Given the description of an element on the screen output the (x, y) to click on. 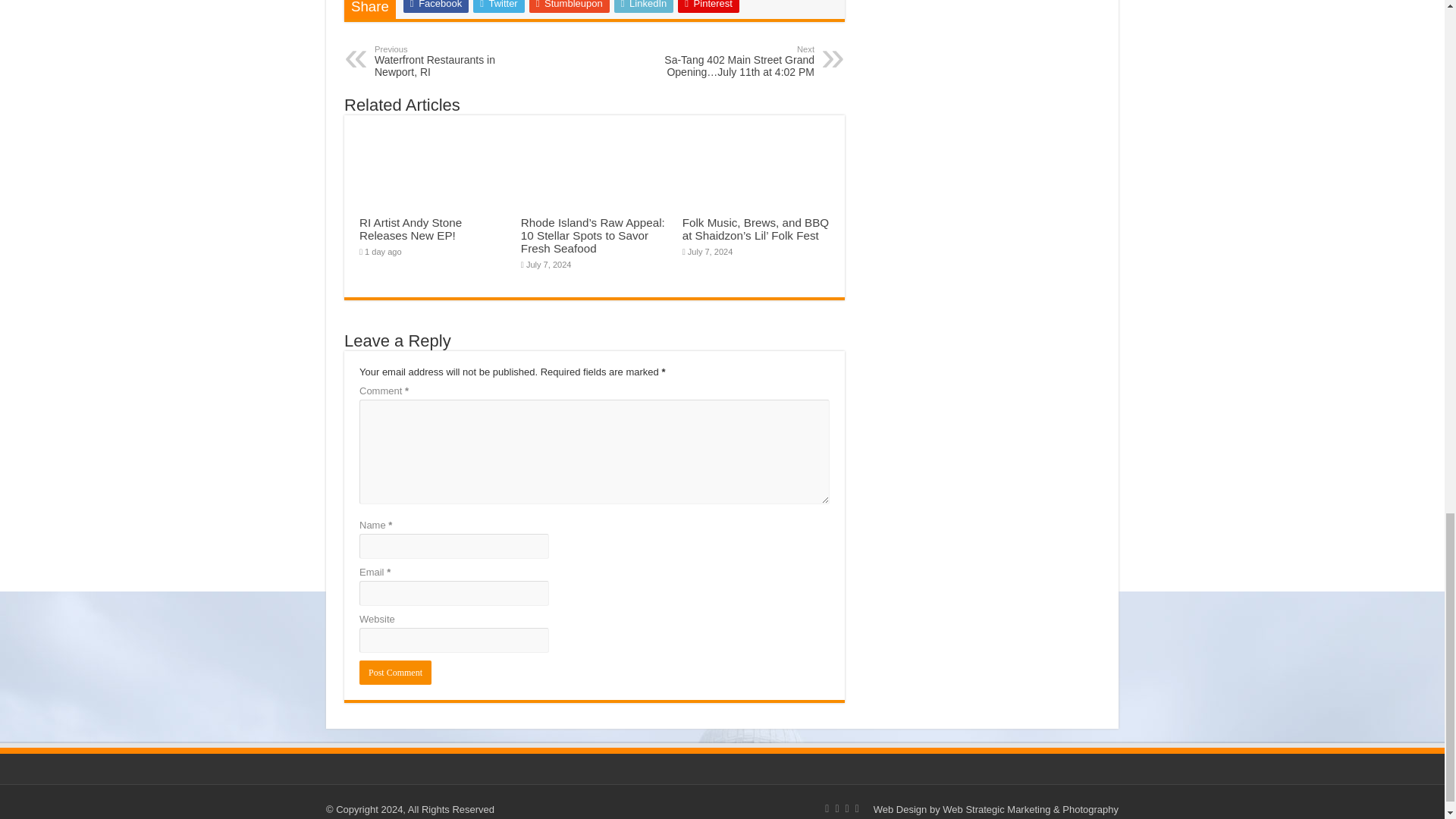
LinkedIn (644, 6)
Twitter (498, 6)
Stumbleupon (569, 6)
Facebook (435, 6)
Pinterest (708, 6)
Post Comment (394, 672)
